Given the description of an element on the screen output the (x, y) to click on. 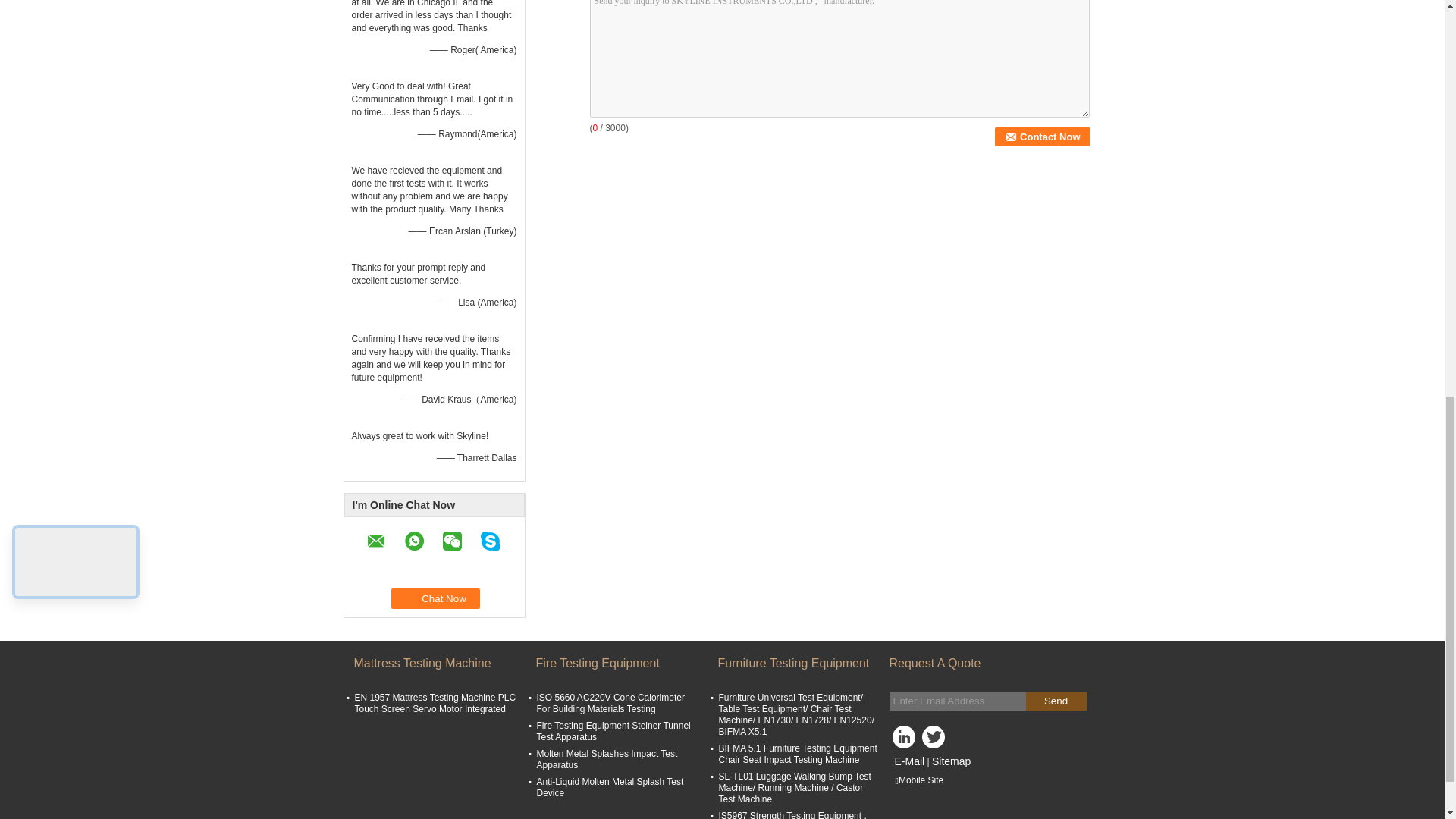
Contact Now (1041, 136)
Chat Now (435, 598)
